Given the description of an element on the screen output the (x, y) to click on. 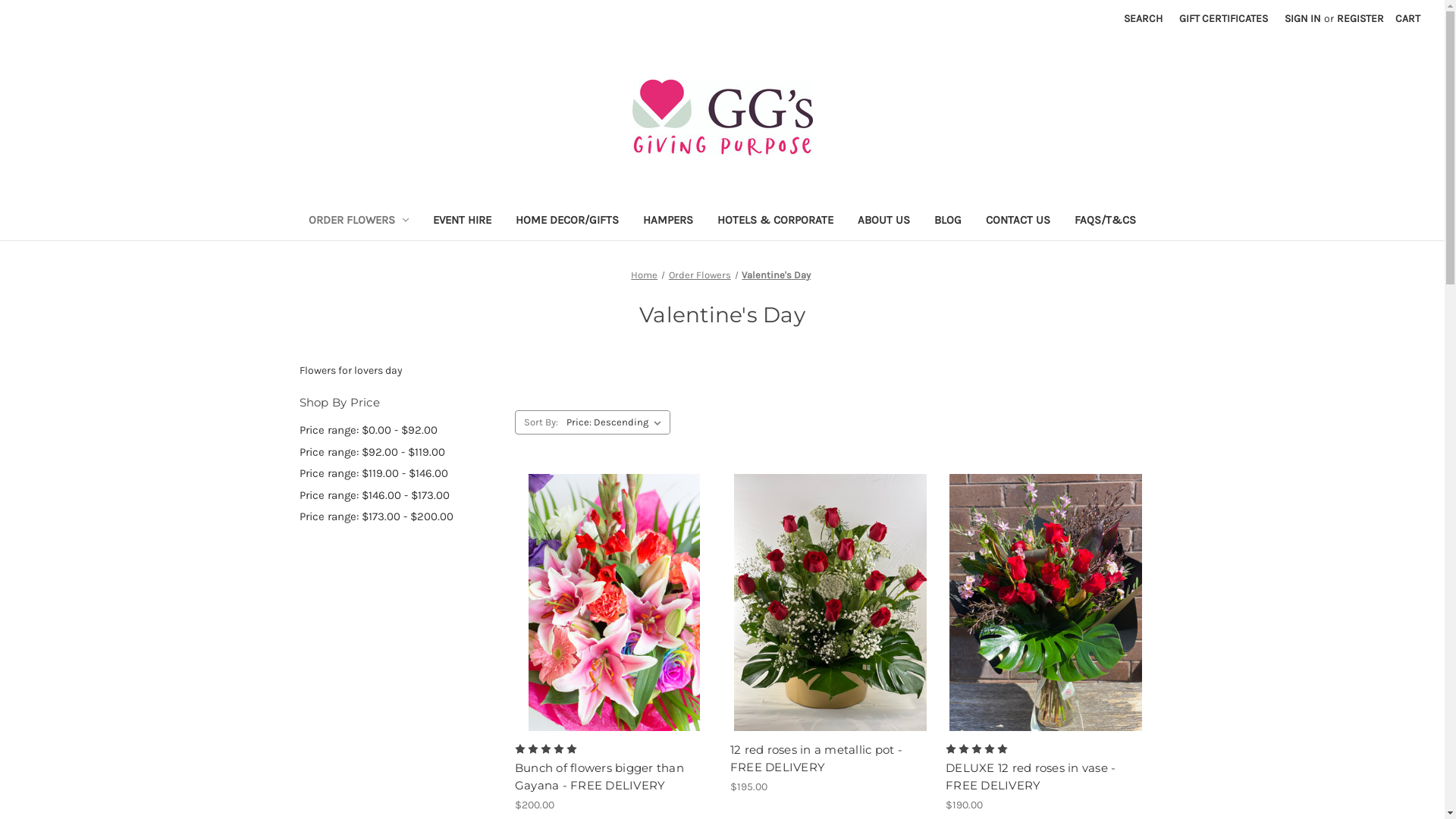
Price range: $119.00 - $146.00 Element type: text (398, 473)
REGISTER Element type: text (1360, 18)
GG's Flowers Element type: hover (722, 117)
Home Element type: text (643, 274)
Price range: $173.00 - $200.00 Element type: text (398, 516)
EVENT HIRE Element type: text (461, 221)
SEARCH Element type: text (1142, 18)
CART Element type: text (1407, 18)
Price range: $146.00 - $173.00 Element type: text (398, 495)
BLOG Element type: text (947, 221)
12 red roses in a metallic pot - FREE DELIVERY Element type: hover (829, 602)
ORDER FLOWERS Element type: text (357, 221)
CONTACT US Element type: text (1017, 221)
HOTELS & CORPORATE Element type: text (775, 221)
DELUXE 12 red roses in vase - FREE DELIVERY Element type: text (1045, 776)
Bunch of flowers bigger than Gayana - FREE DELIVERY Element type: hover (614, 602)
Bunch of flowers bigger than Gayana - FREE DELIVERY Element type: text (614, 776)
Price range: $92.00 - $119.00 Element type: text (398, 452)
12 red roses in a metallic pot - FREE DELIVERY Element type: text (829, 758)
ABOUT US Element type: text (883, 221)
Valentine's Day Element type: text (775, 274)
Price range: $0.00 - $92.00 Element type: text (398, 430)
SIGN IN Element type: text (1302, 18)
FAQS/T&CS Element type: text (1105, 221)
HOME DECOR/GIFTS Element type: text (566, 221)
HAMPERS Element type: text (667, 221)
GIFT CERTIFICATES Element type: text (1223, 18)
DELUXE 12 red roses in vase - FREE DELIVERY Element type: hover (1044, 602)
Order Flowers Element type: text (699, 274)
